Given the description of an element on the screen output the (x, y) to click on. 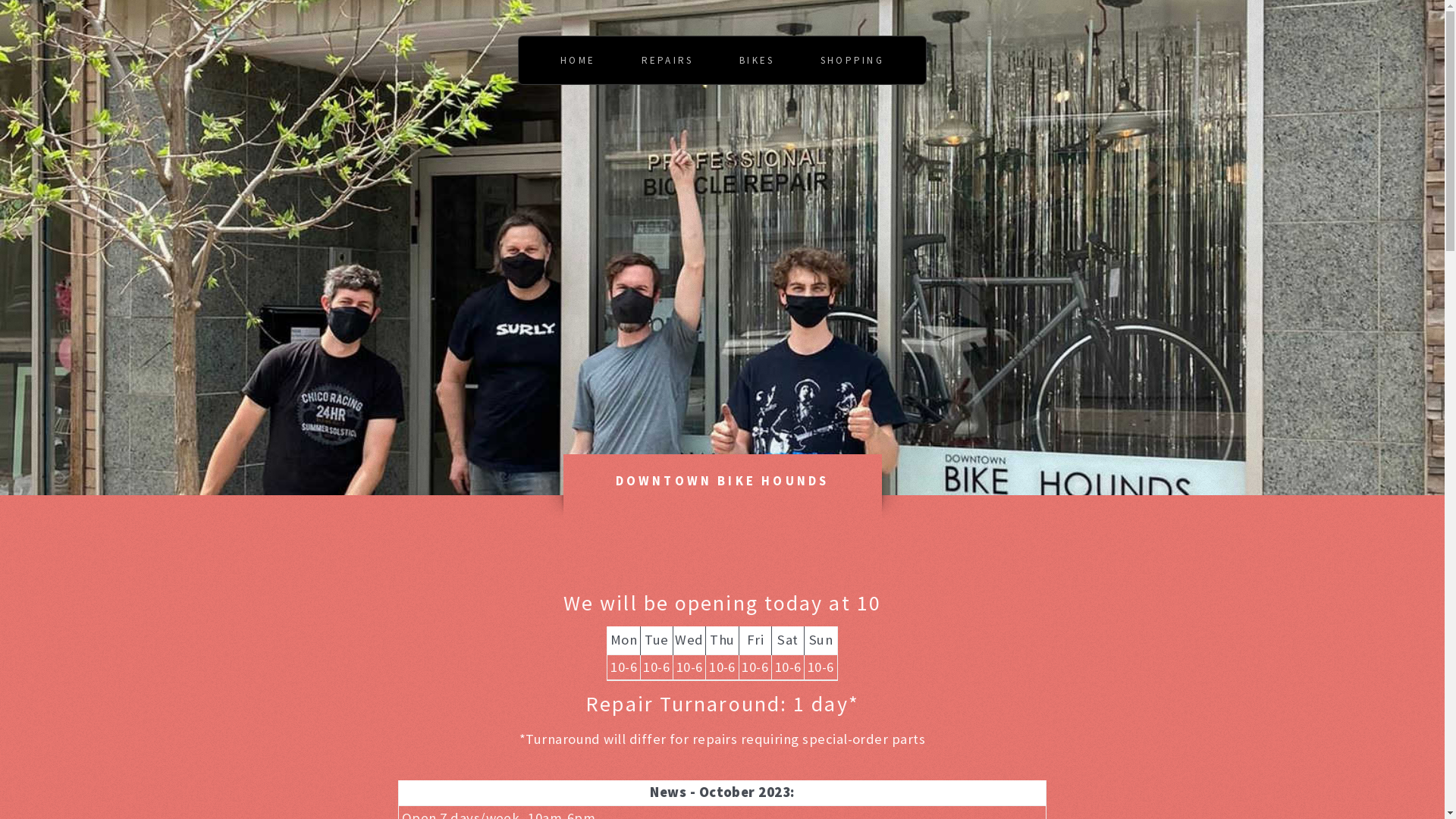
BIKES Element type: text (756, 59)
SHOPPING Element type: text (852, 59)
HOME Element type: text (577, 59)
REPAIRS Element type: text (667, 59)
